Given the description of an element on the screen output the (x, y) to click on. 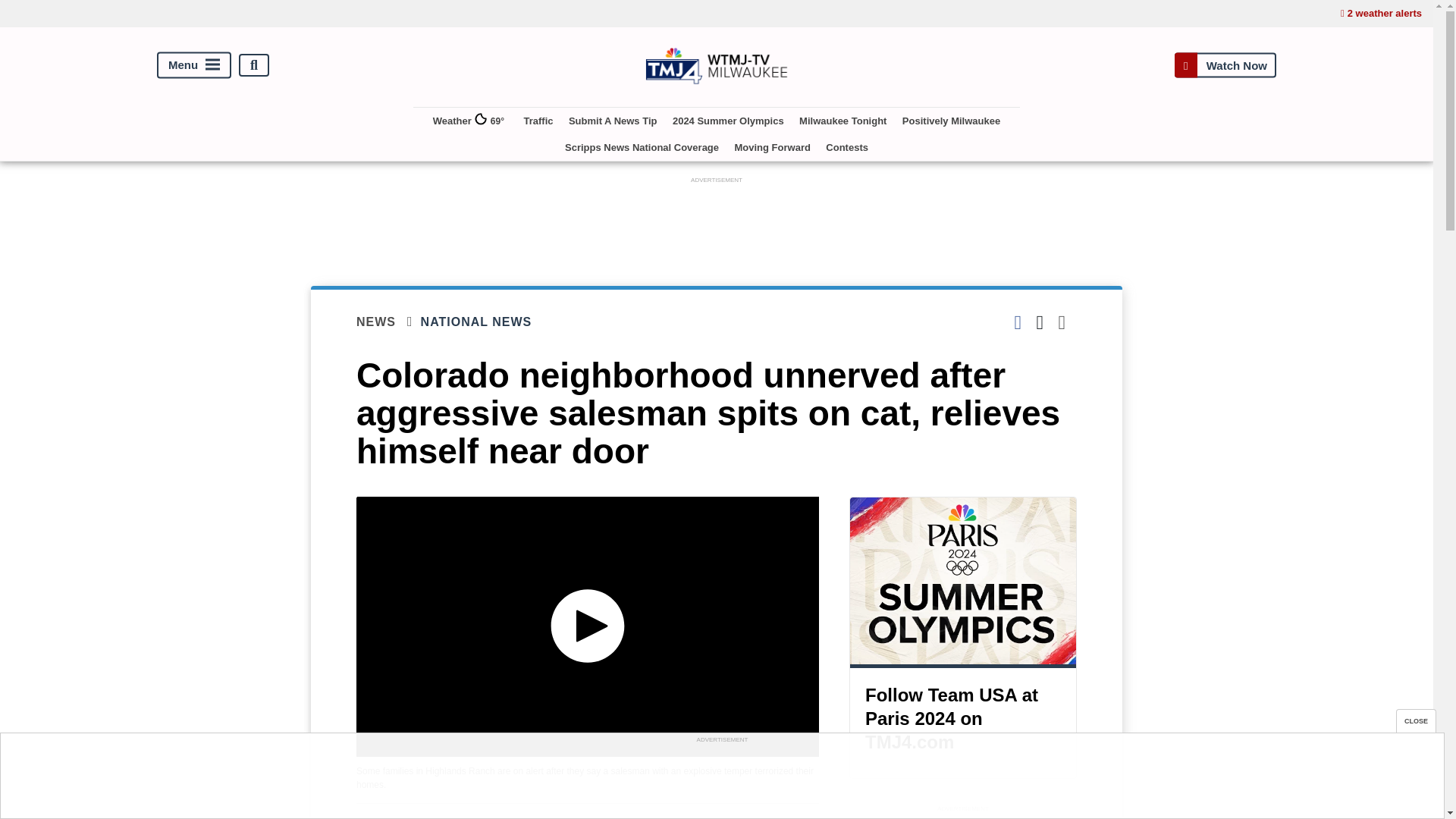
3rd party ad content (716, 221)
3rd party ad content (962, 817)
3rd party ad content (721, 780)
Menu (194, 65)
Watch Now (1224, 65)
